Given the description of an element on the screen output the (x, y) to click on. 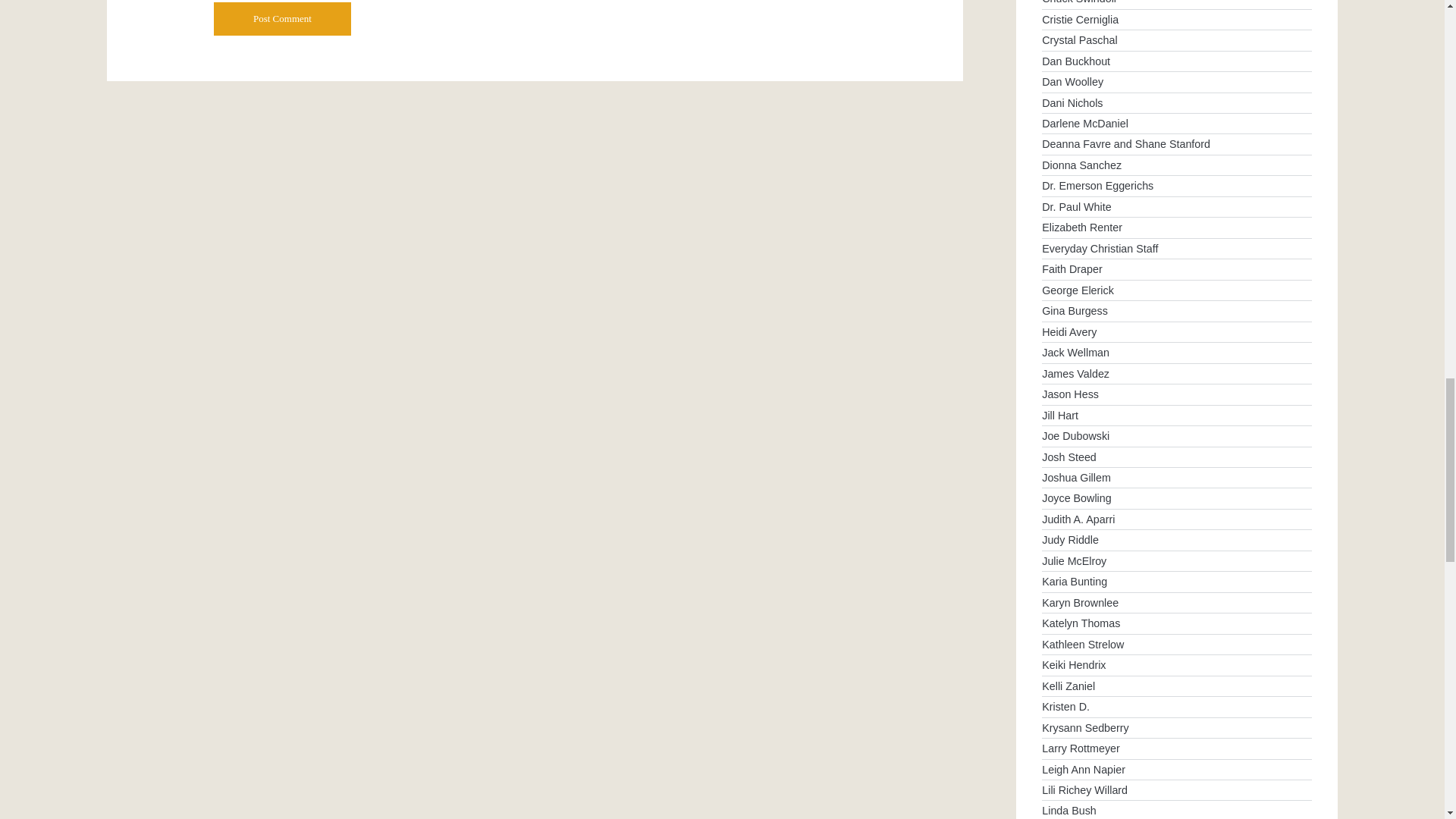
Post Comment (282, 19)
Post Comment (282, 19)
